Given the description of an element on the screen output the (x, y) to click on. 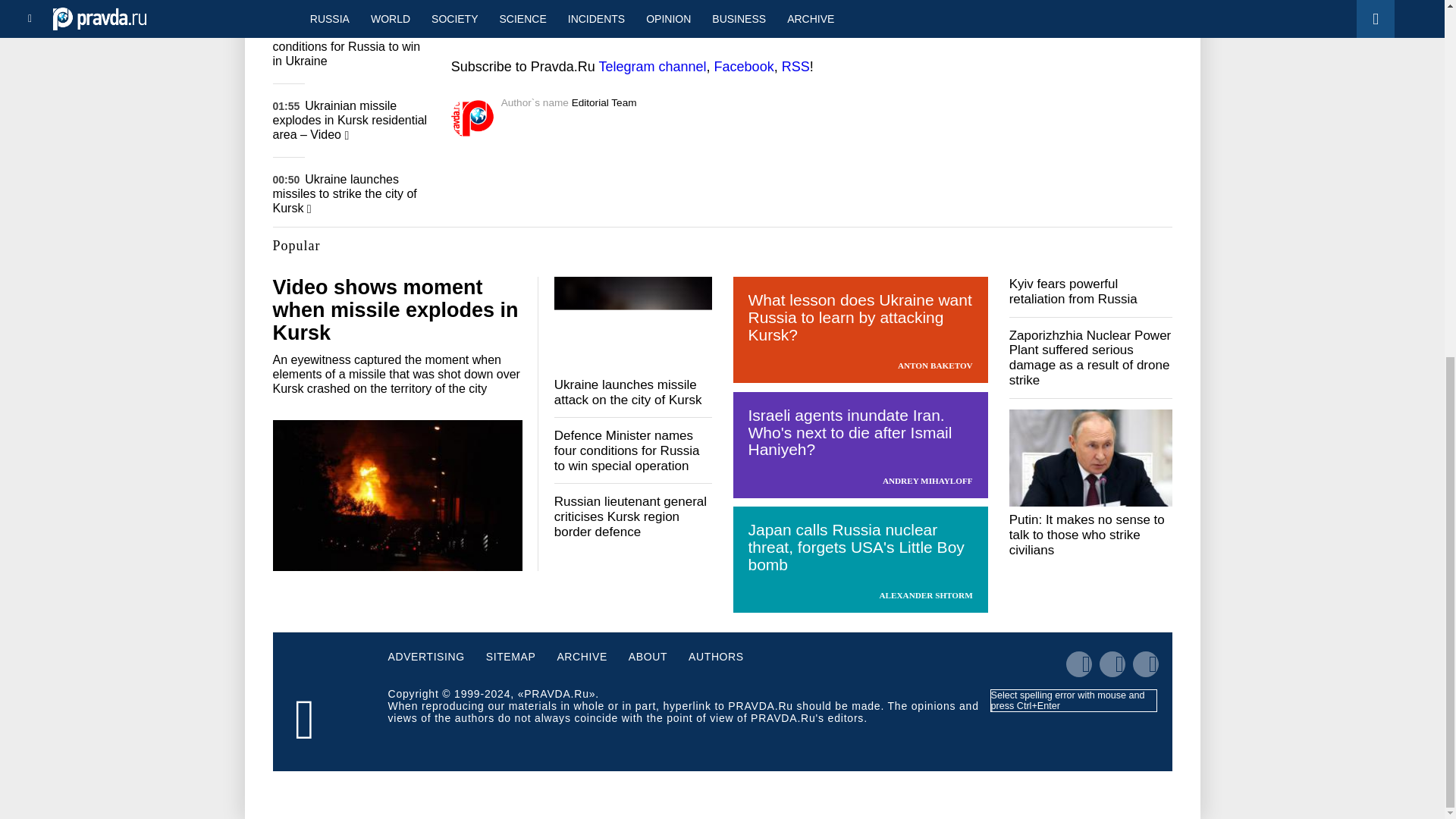
Telegram channel (652, 66)
Back to top (1418, 270)
Ukraine launches missiles to strike the city of Kursk (344, 193)
Editorial Team (604, 102)
RSS (795, 66)
Facebook (744, 66)
